Given the description of an element on the screen output the (x, y) to click on. 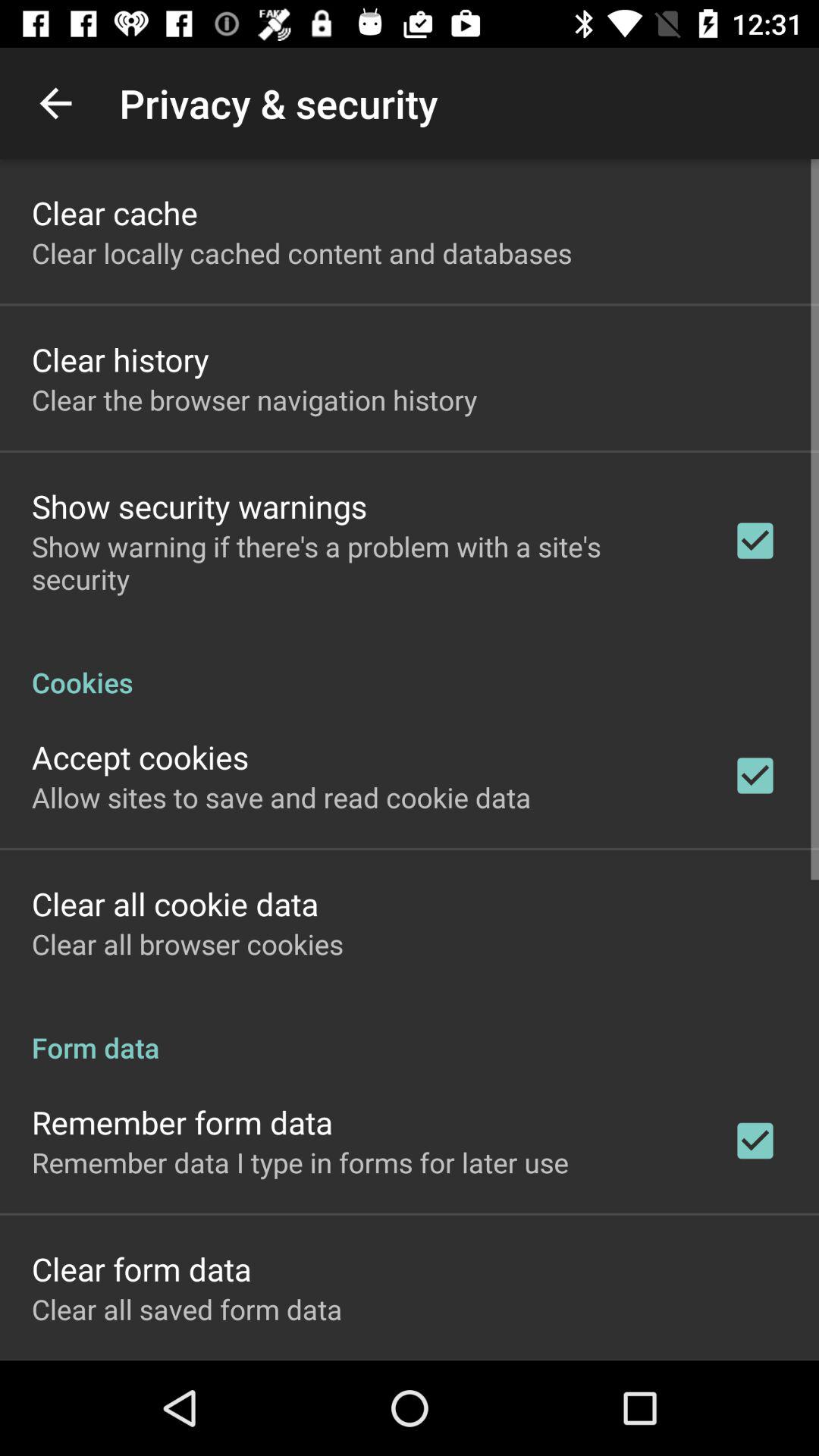
click app next to privacy & security item (55, 103)
